Given the description of an element on the screen output the (x, y) to click on. 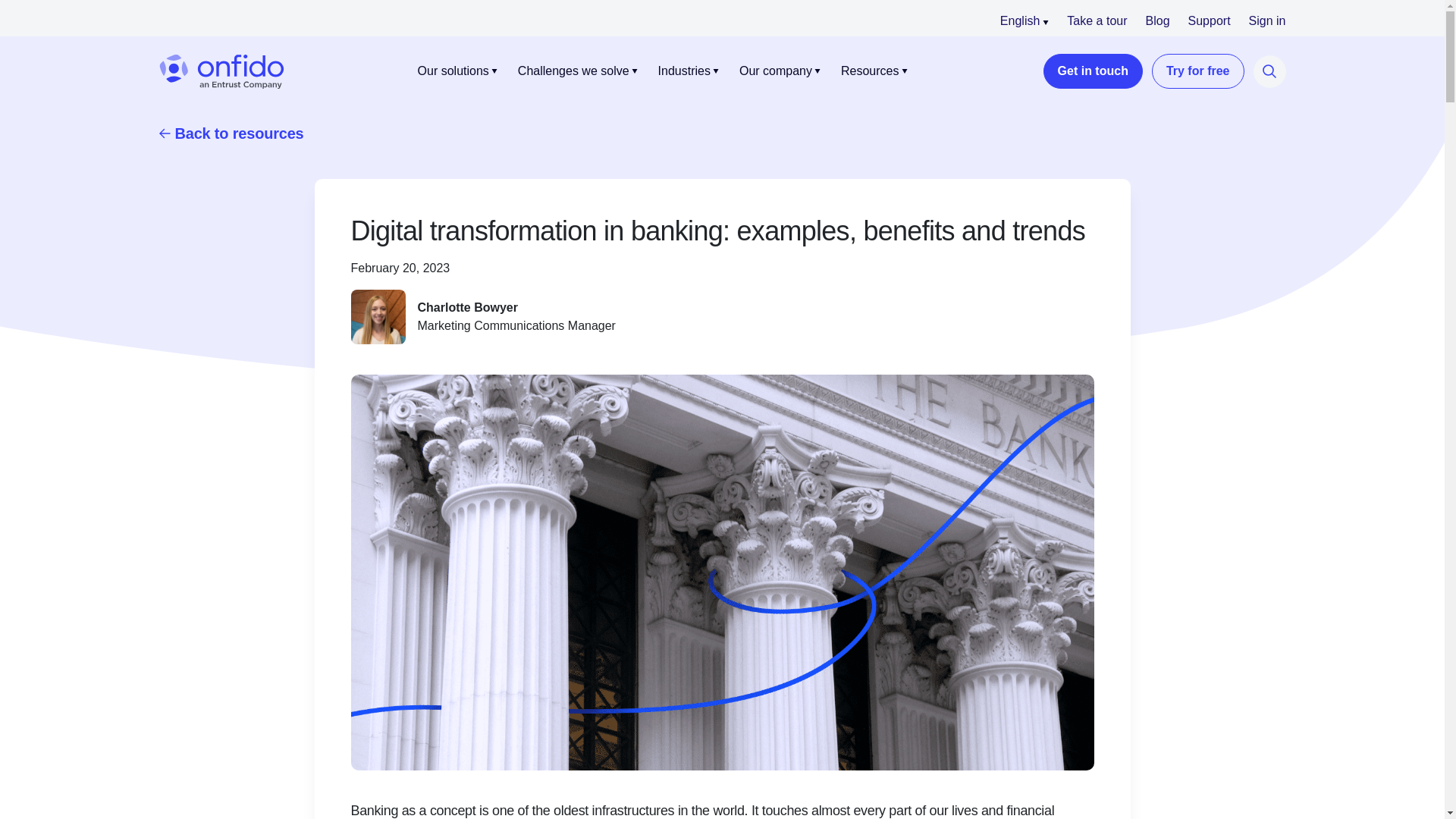
Challenges we solve (573, 70)
Support (1209, 20)
Sign in (1267, 20)
Industries (684, 70)
Blog (1156, 20)
Challenges we solve (573, 70)
Our solutions (453, 70)
English (1024, 20)
Switch language (1024, 20)
Take a tour (1096, 20)
